Given the description of an element on the screen output the (x, y) to click on. 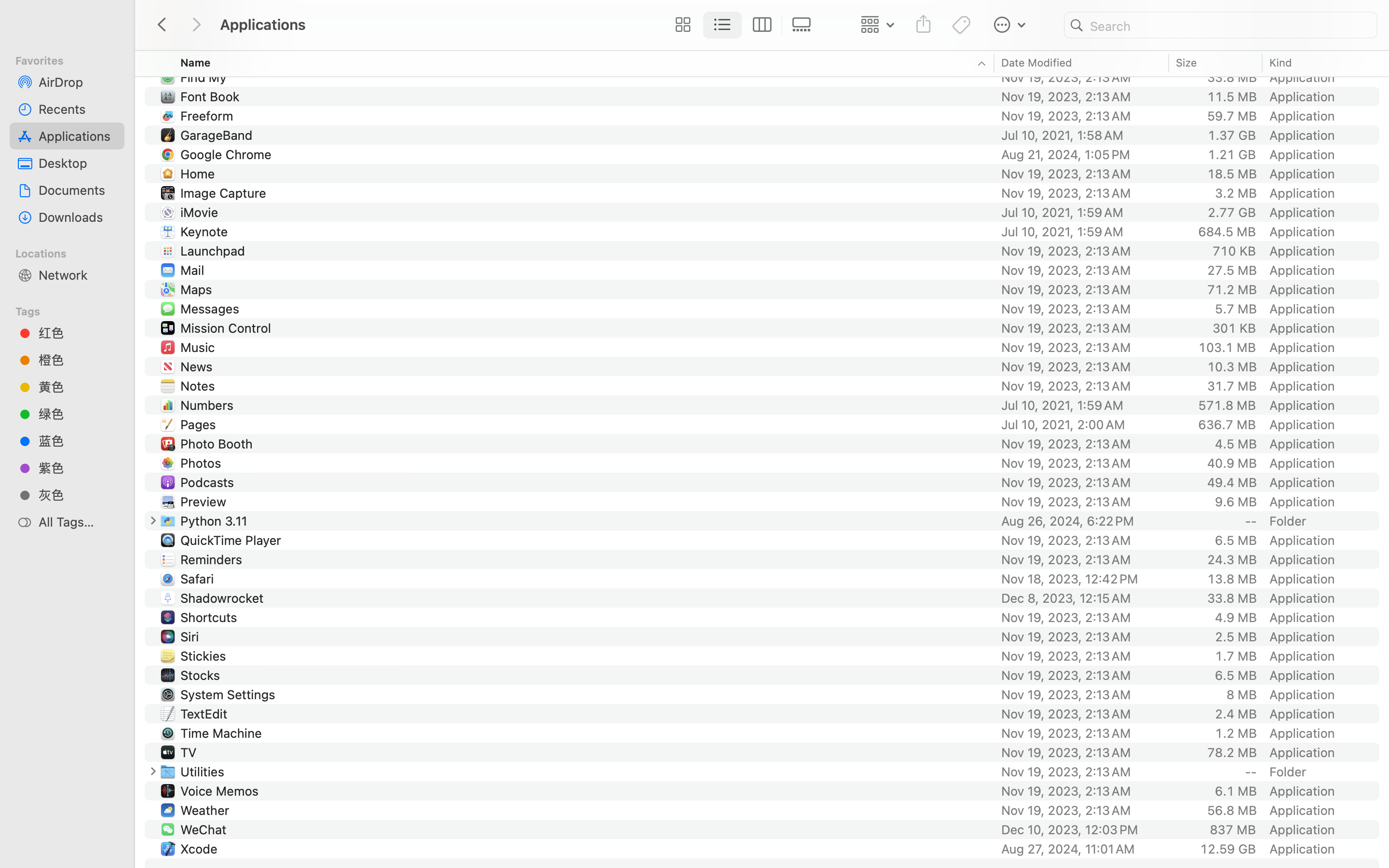
11.5 MB Element type: AXStaticText (1231, 96)
2.4 MB Element type: AXStaticText (1235, 713)
103.1 MB Element type: AXStaticText (1226, 346)
Utilities Element type: AXTextField (204, 771)
31.7 MB Element type: AXStaticText (1231, 385)
